Given the description of an element on the screen output the (x, y) to click on. 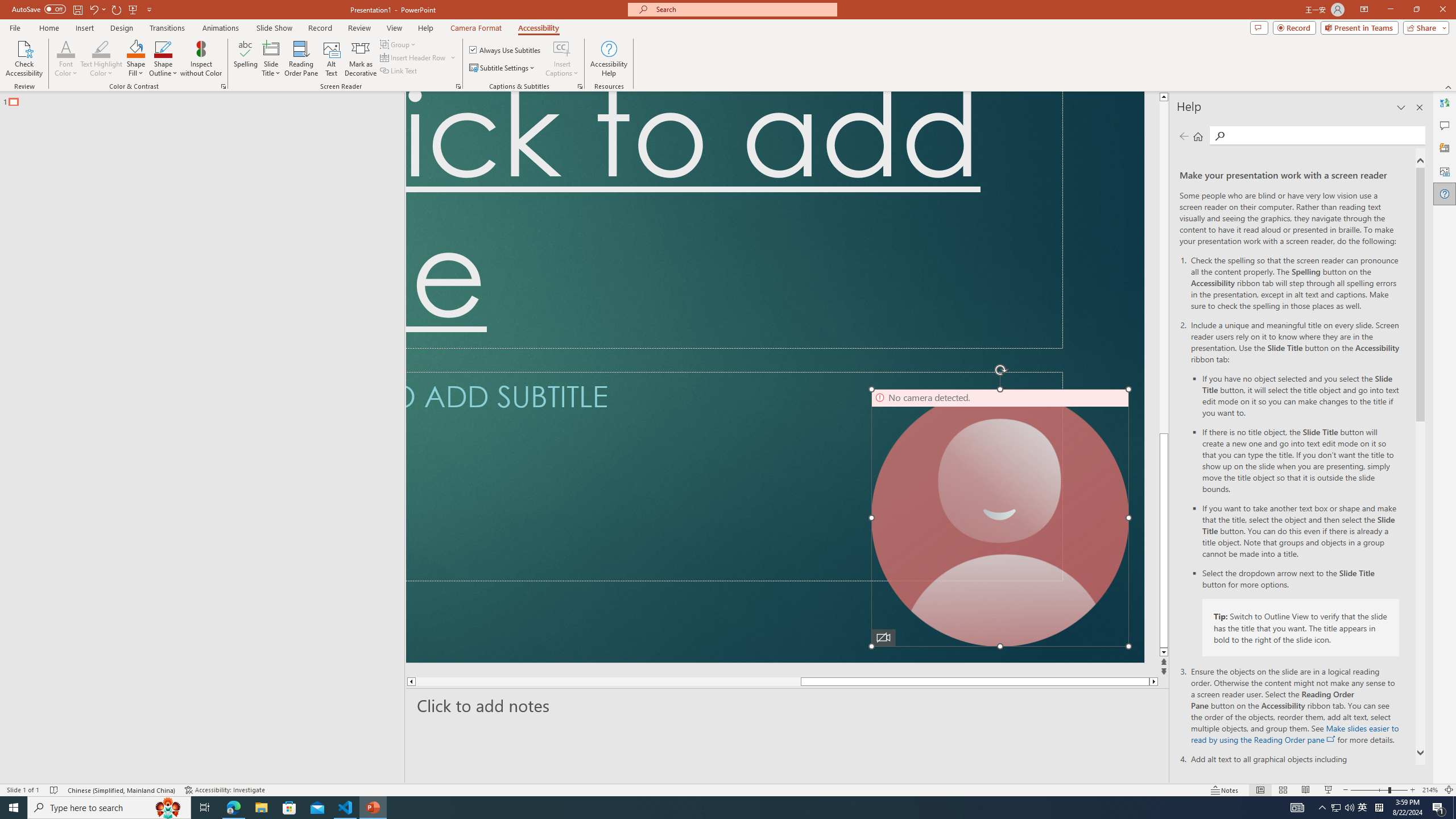
Text Highlight Color (100, 58)
Slide Show (1328, 790)
Home (1198, 136)
File Tab (15, 27)
Animations (220, 28)
Alt Text (1444, 170)
Font Color (65, 48)
Notes  (1225, 790)
System (6, 6)
Insert Captions (561, 58)
Font Color (65, 58)
Group (398, 44)
Redo (117, 9)
Camera Format (475, 28)
Undo (92, 9)
